Given the description of an element on the screen output the (x, y) to click on. 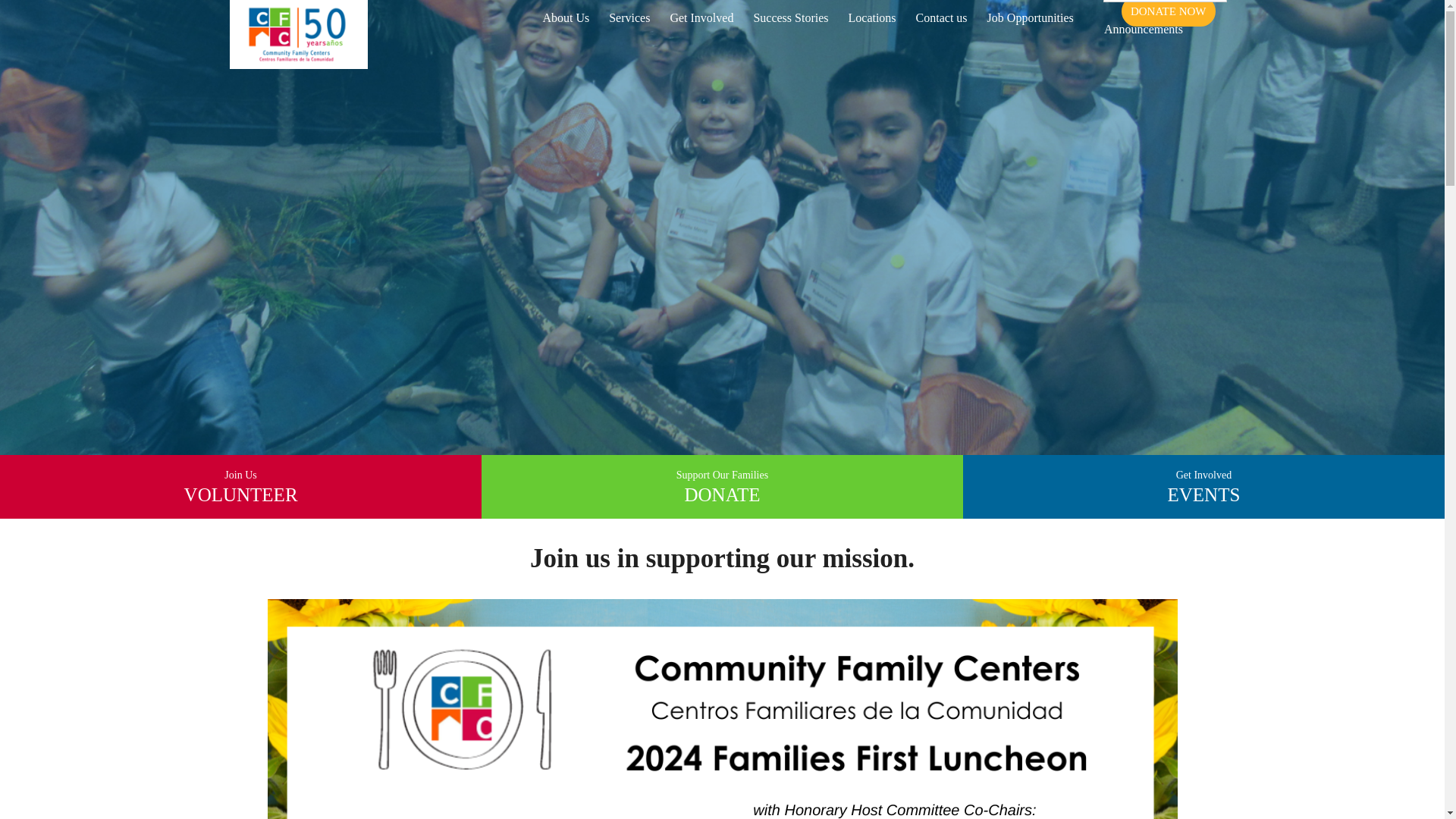
Success Stories (790, 26)
English (1163, 1)
Contact us (940, 26)
Job Opportunities (1029, 26)
Important Announcements (1142, 19)
DONATE NOW (1169, 10)
About Us (565, 26)
Get Involved (700, 26)
Services (628, 26)
Locations (871, 26)
